Given the description of an element on the screen output the (x, y) to click on. 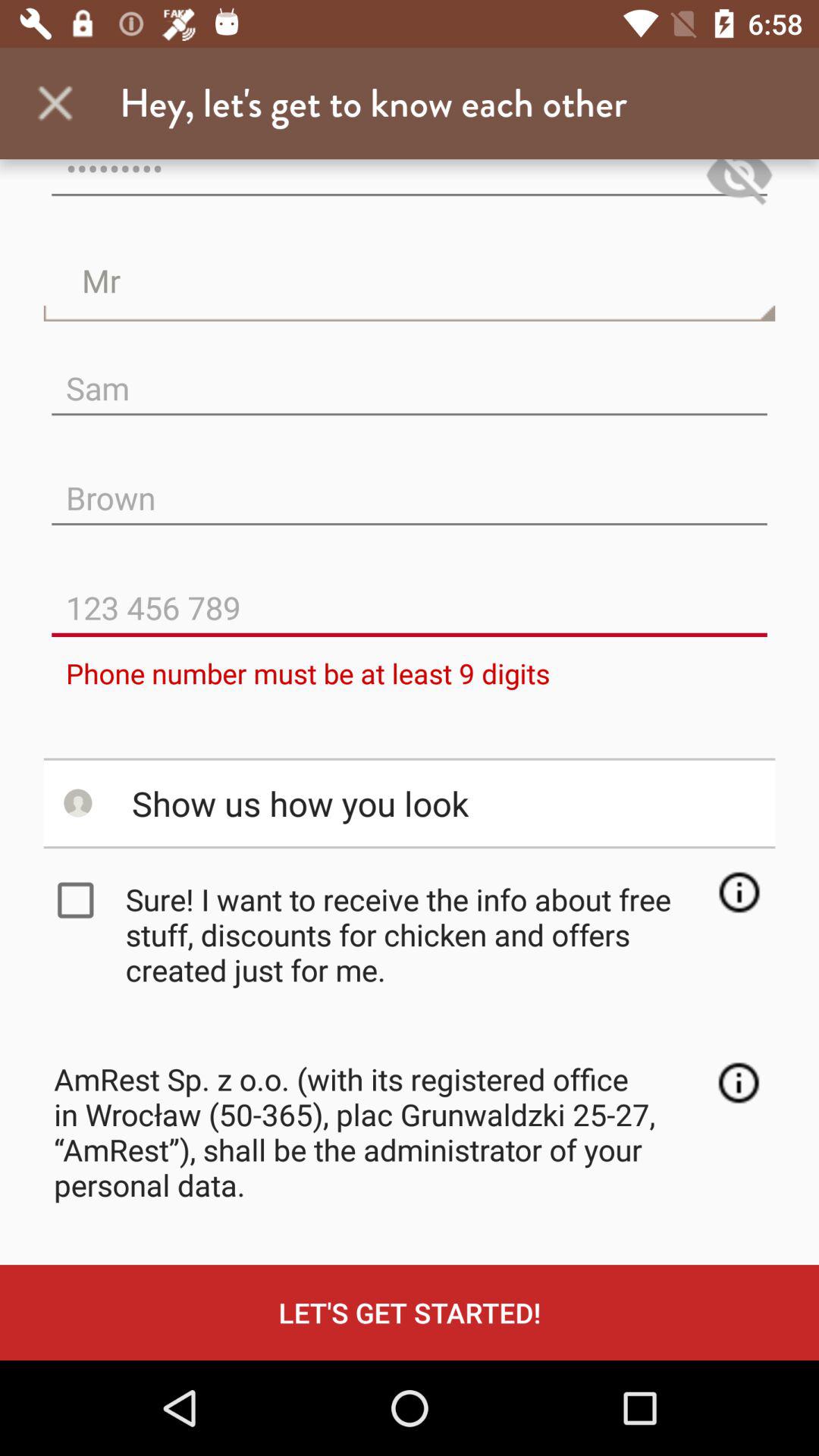
select checkbox (79, 900)
